Given the description of an element on the screen output the (x, y) to click on. 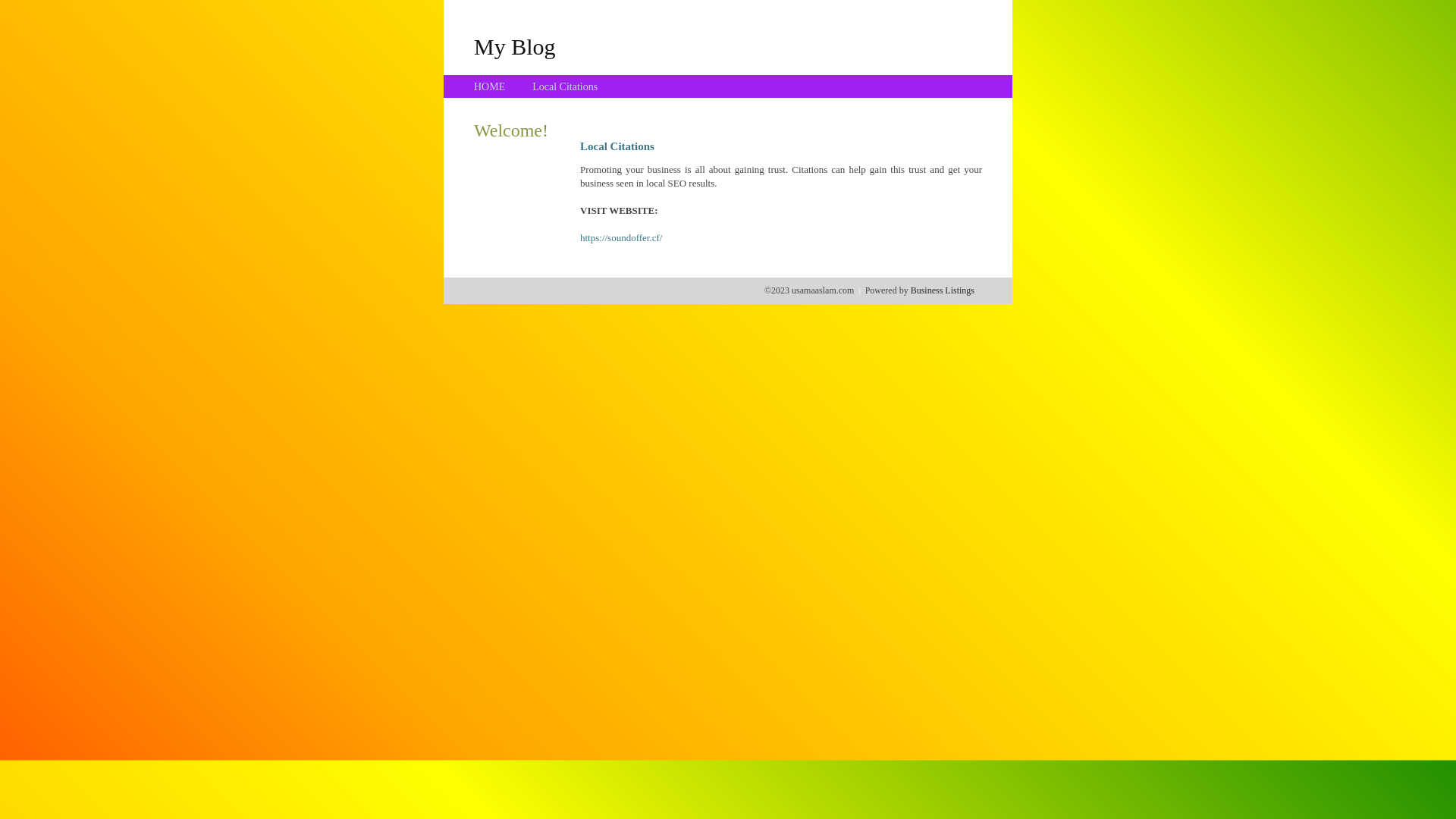
HOME Element type: text (489, 86)
Business Listings Element type: text (942, 290)
My Blog Element type: text (514, 46)
https://soundoffer.cf/ Element type: text (621, 237)
Local Citations Element type: text (564, 86)
